Given the description of an element on the screen output the (x, y) to click on. 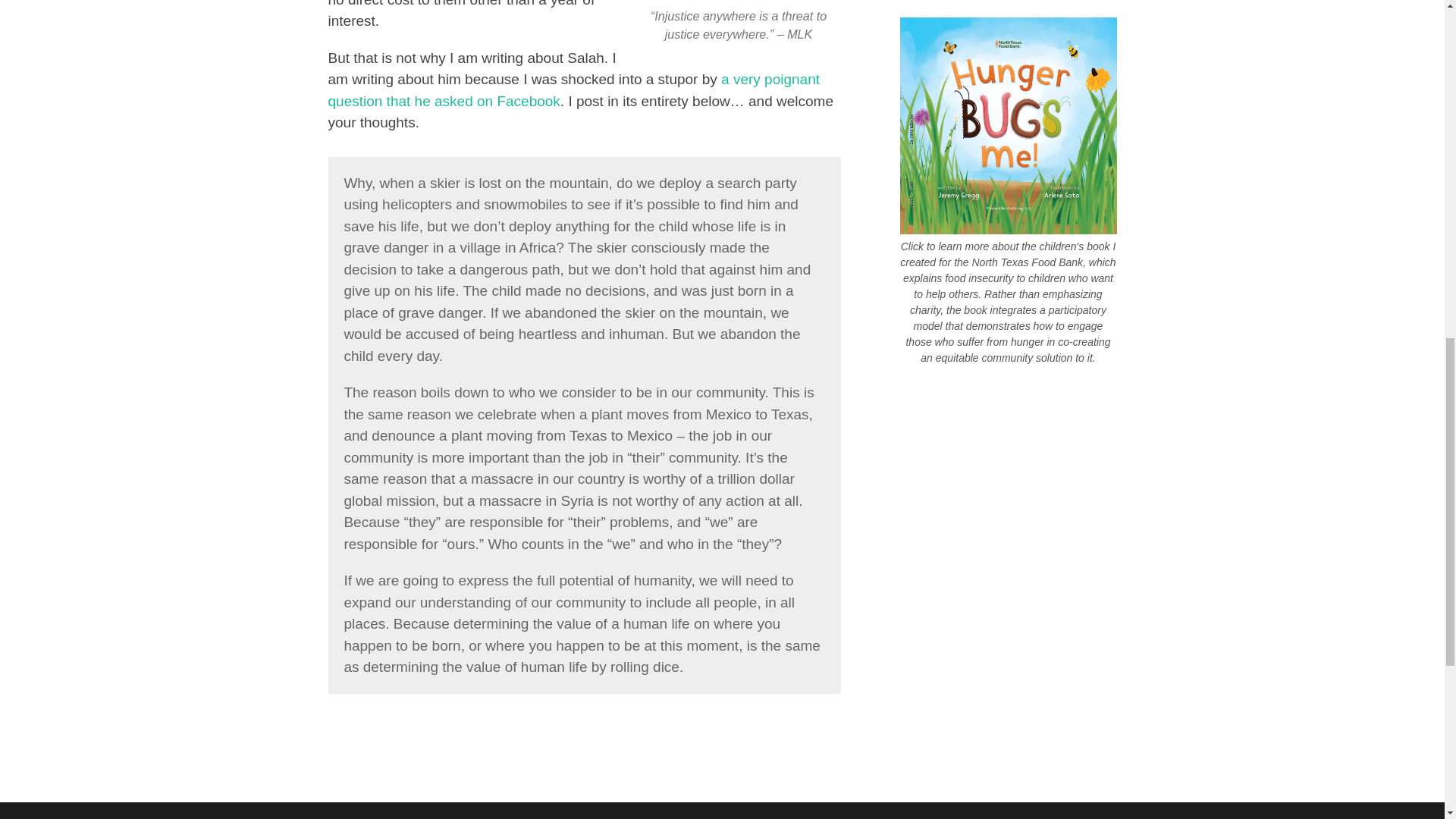
a very poignant question that he asked on Facebook (572, 89)
Salah's big question (572, 89)
